Given the description of an element on the screen output the (x, y) to click on. 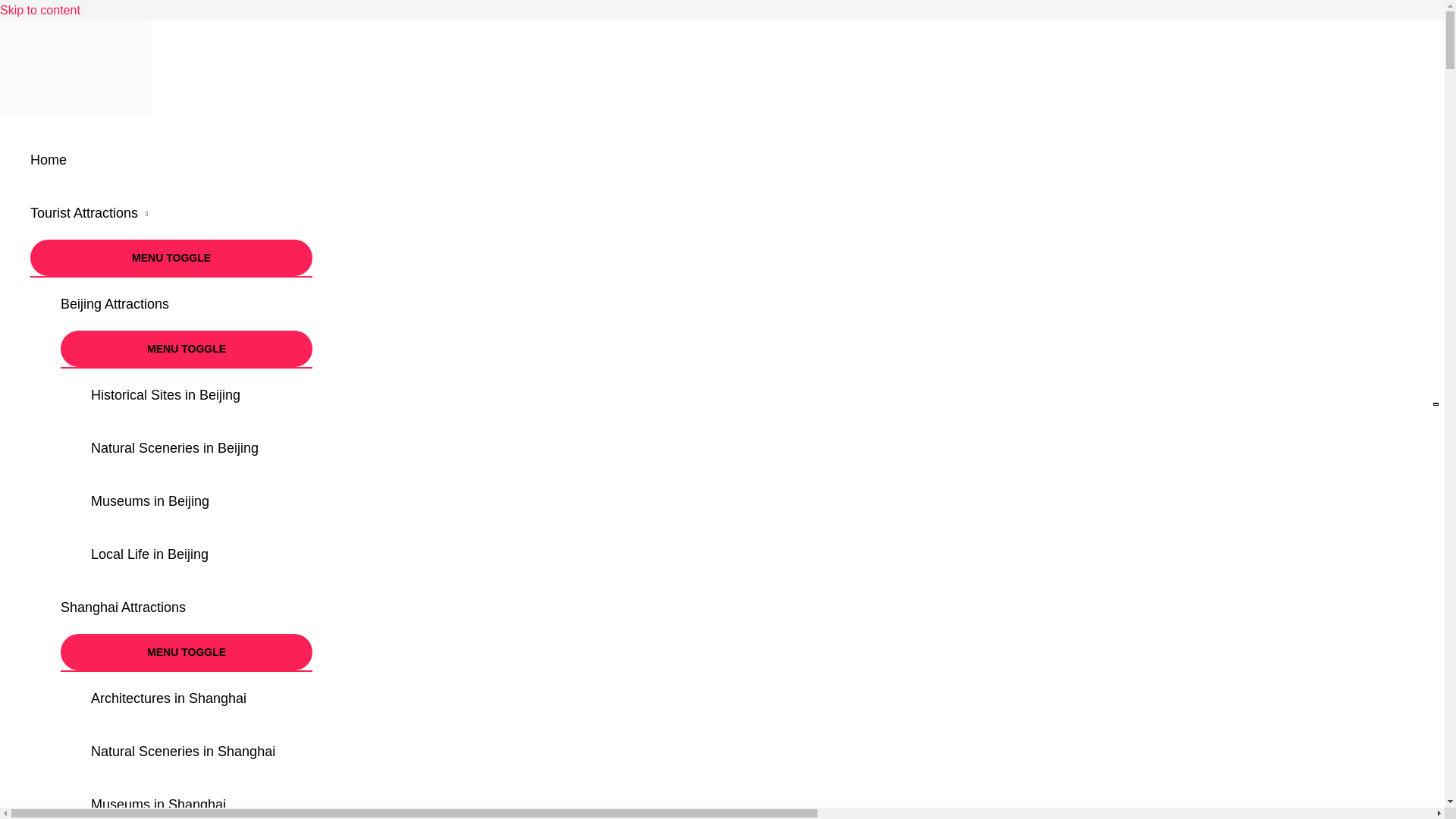
Skip to content (40, 10)
Home (171, 159)
Local Life in Beijing (201, 553)
Skip to content (40, 10)
MENU TOGGLE (171, 257)
Museums in Shanghai (201, 798)
Natural Sceneries in Beijing (201, 448)
Museums in Beijing (201, 501)
MENU TOGGLE (187, 348)
Beijing Attractions (187, 303)
Shanghai Attractions (187, 606)
Natural Sceneries in Shanghai (201, 751)
Historical Sites in Beijing (201, 394)
Architectures in Shanghai (201, 697)
